Given the description of an element on the screen output the (x, y) to click on. 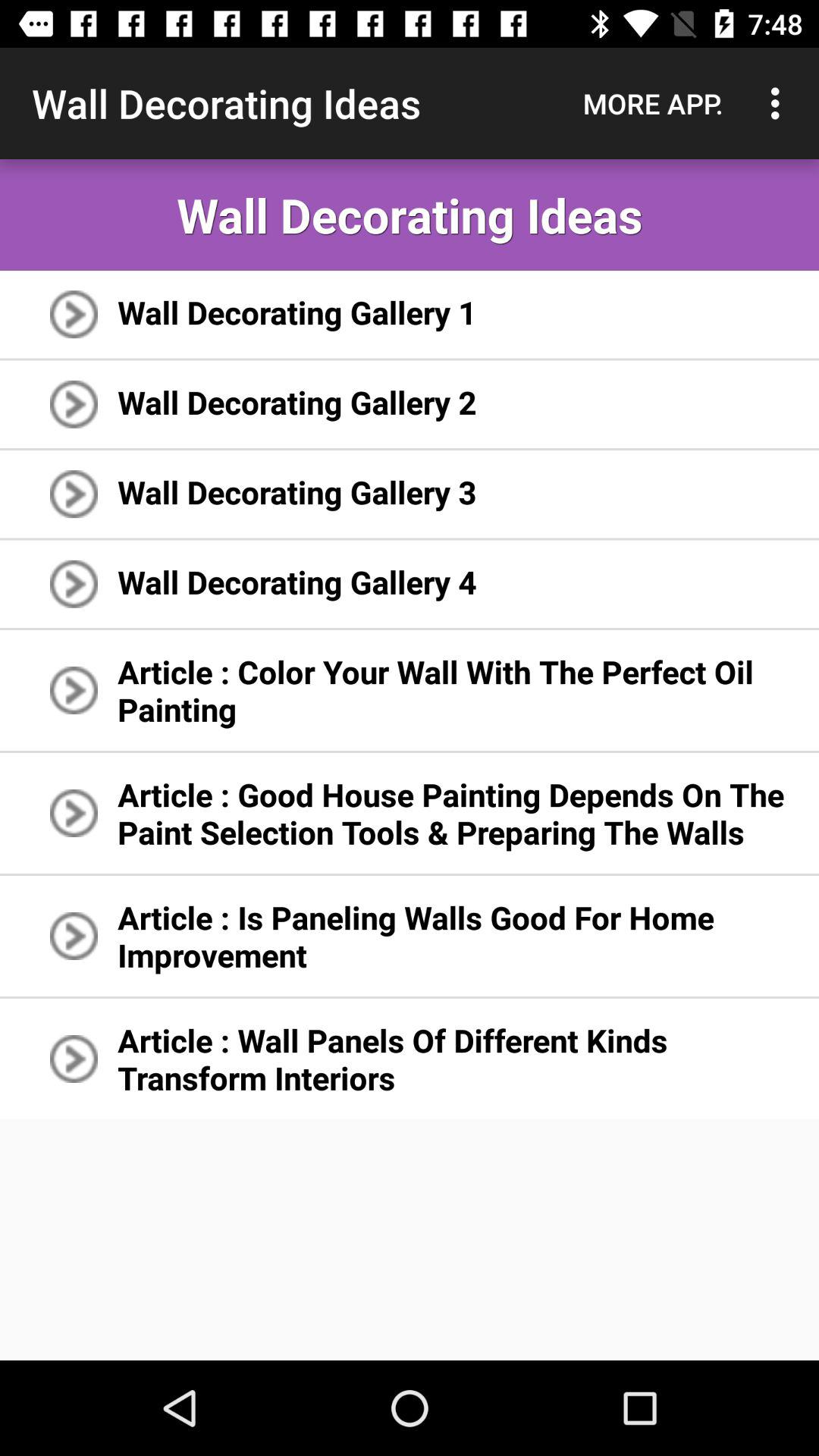
select the more app. (653, 103)
